Given the description of an element on the screen output the (x, y) to click on. 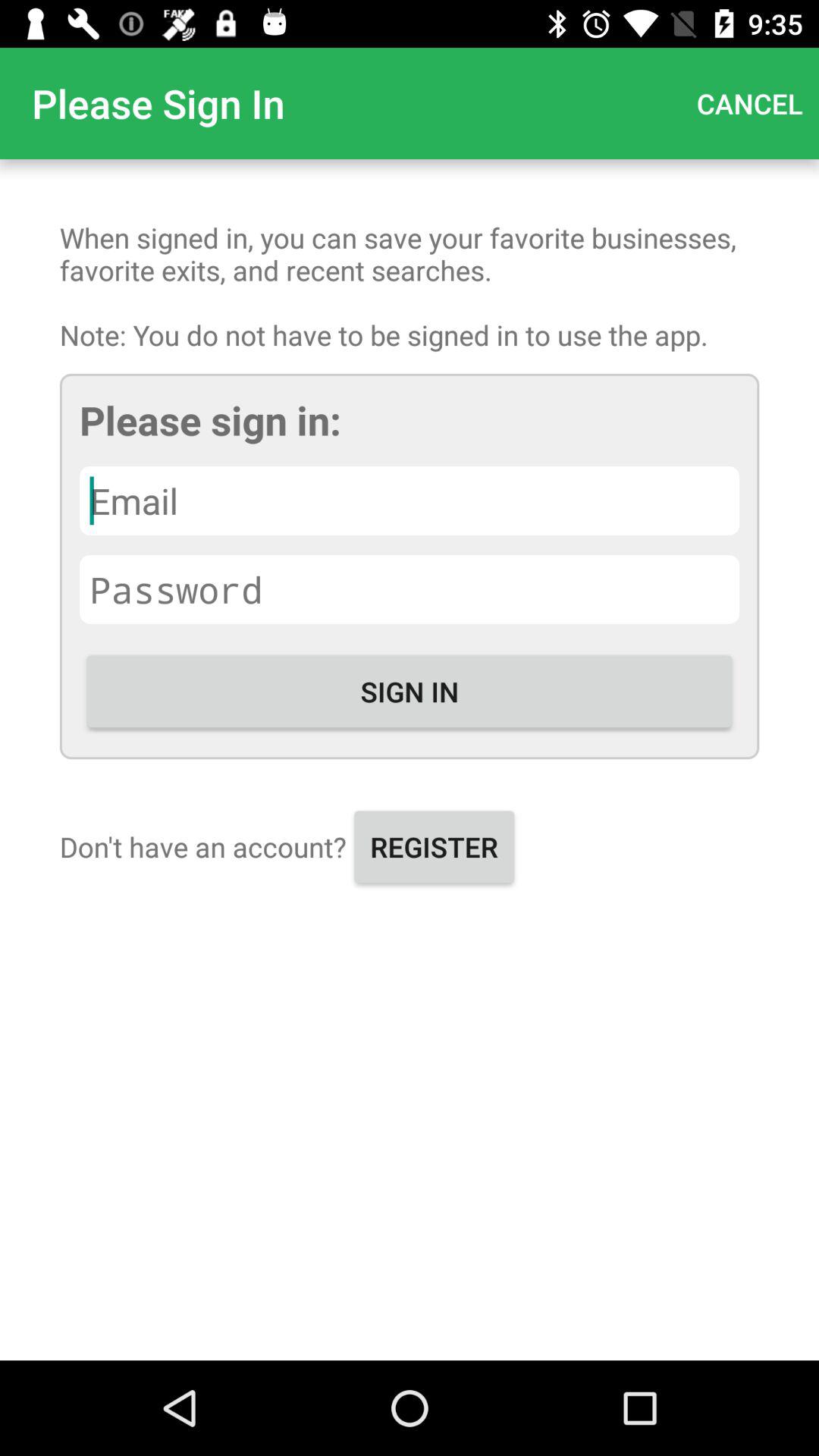
tap the icon below the sign in icon (434, 846)
